Given the description of an element on the screen output the (x, y) to click on. 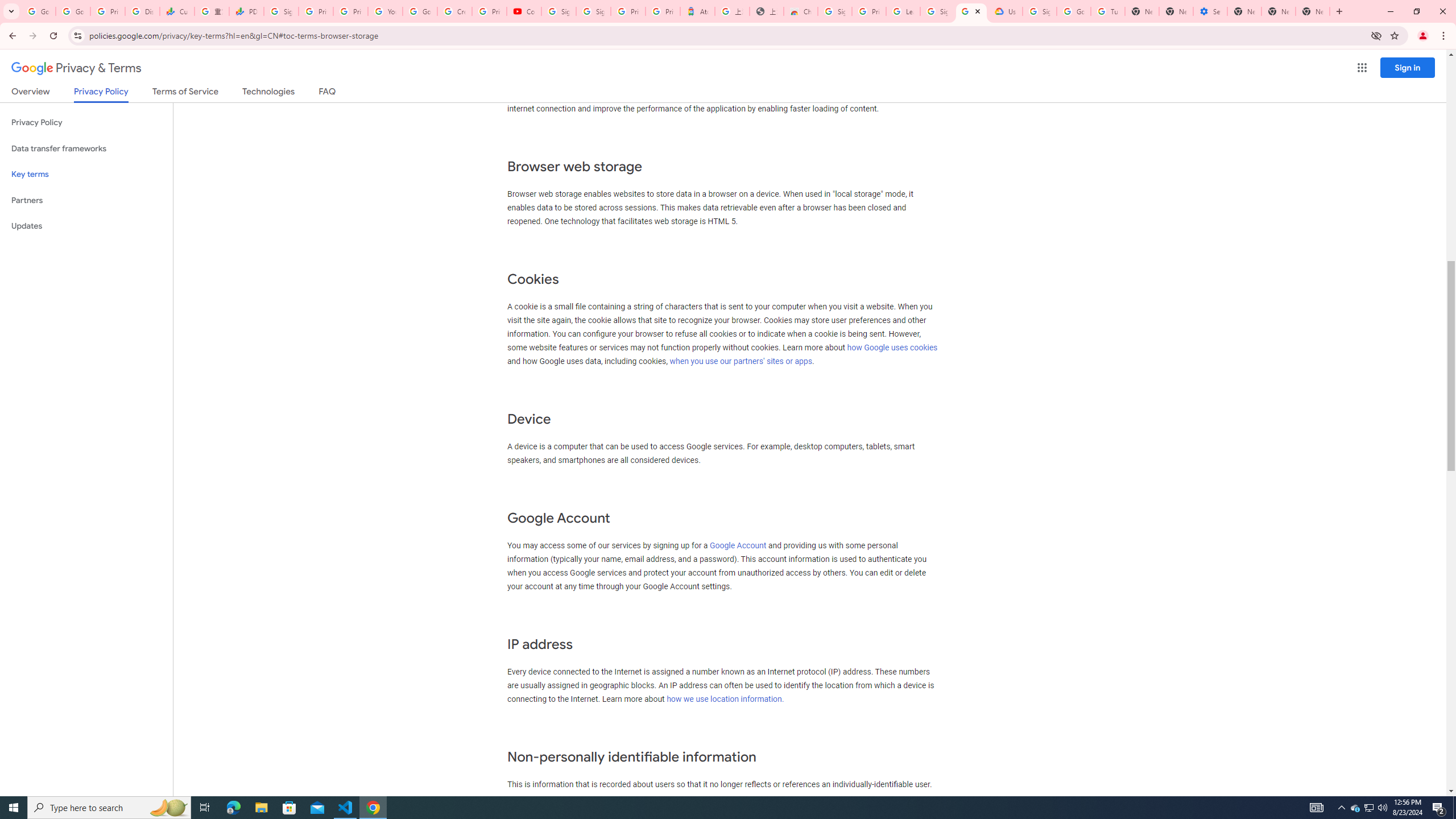
Currencies - Google Finance (176, 11)
New Tab (1243, 11)
Sign in - Google Accounts (281, 11)
